Given the description of an element on the screen output the (x, y) to click on. 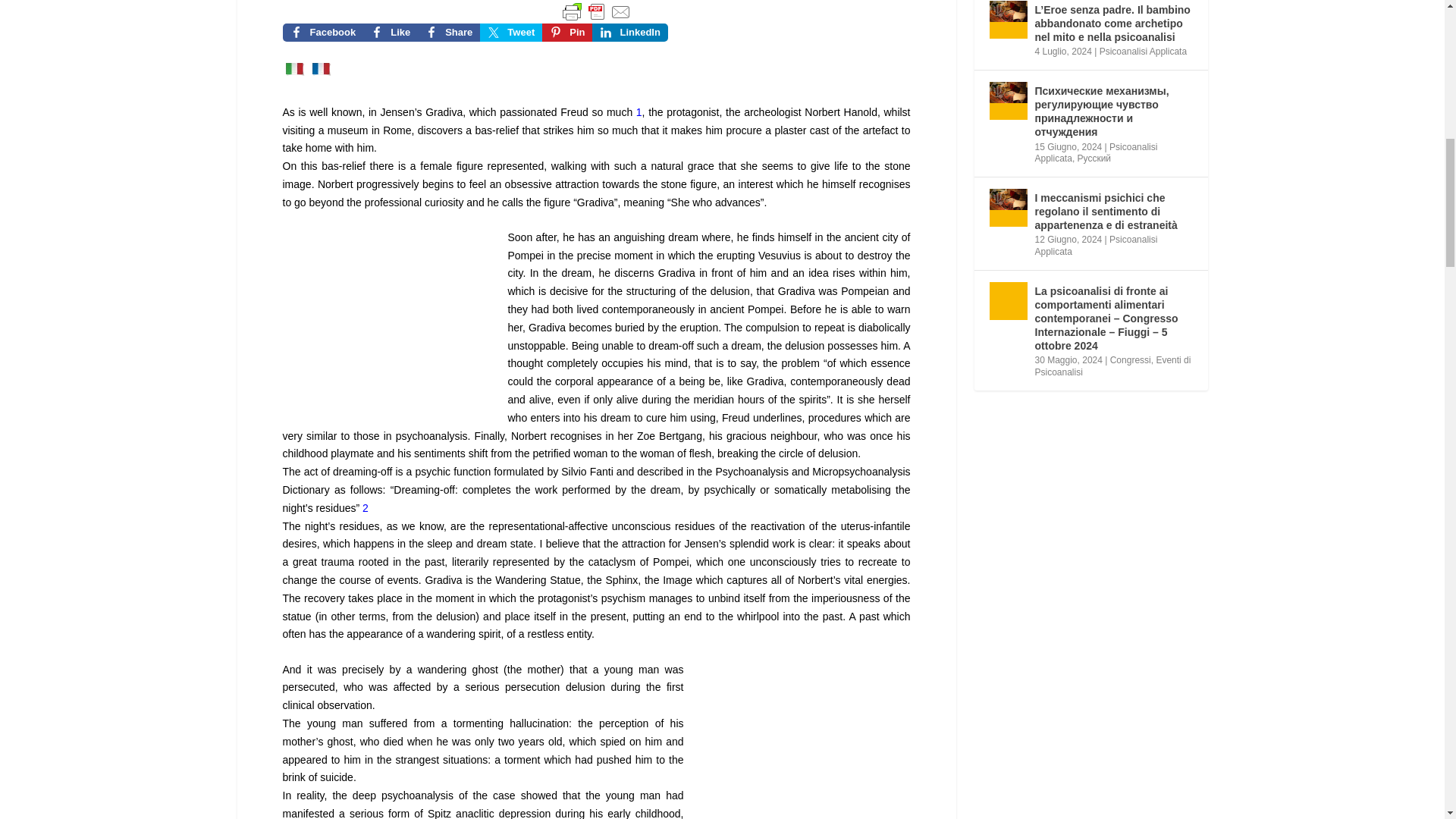
Share on Facebook (322, 32)
Like on Facebook (389, 32)
Share on Twitter (510, 32)
Share on LinkedIn (629, 32)
Share on Pinterest (566, 32)
Share on Facebook (448, 32)
